Given the description of an element on the screen output the (x, y) to click on. 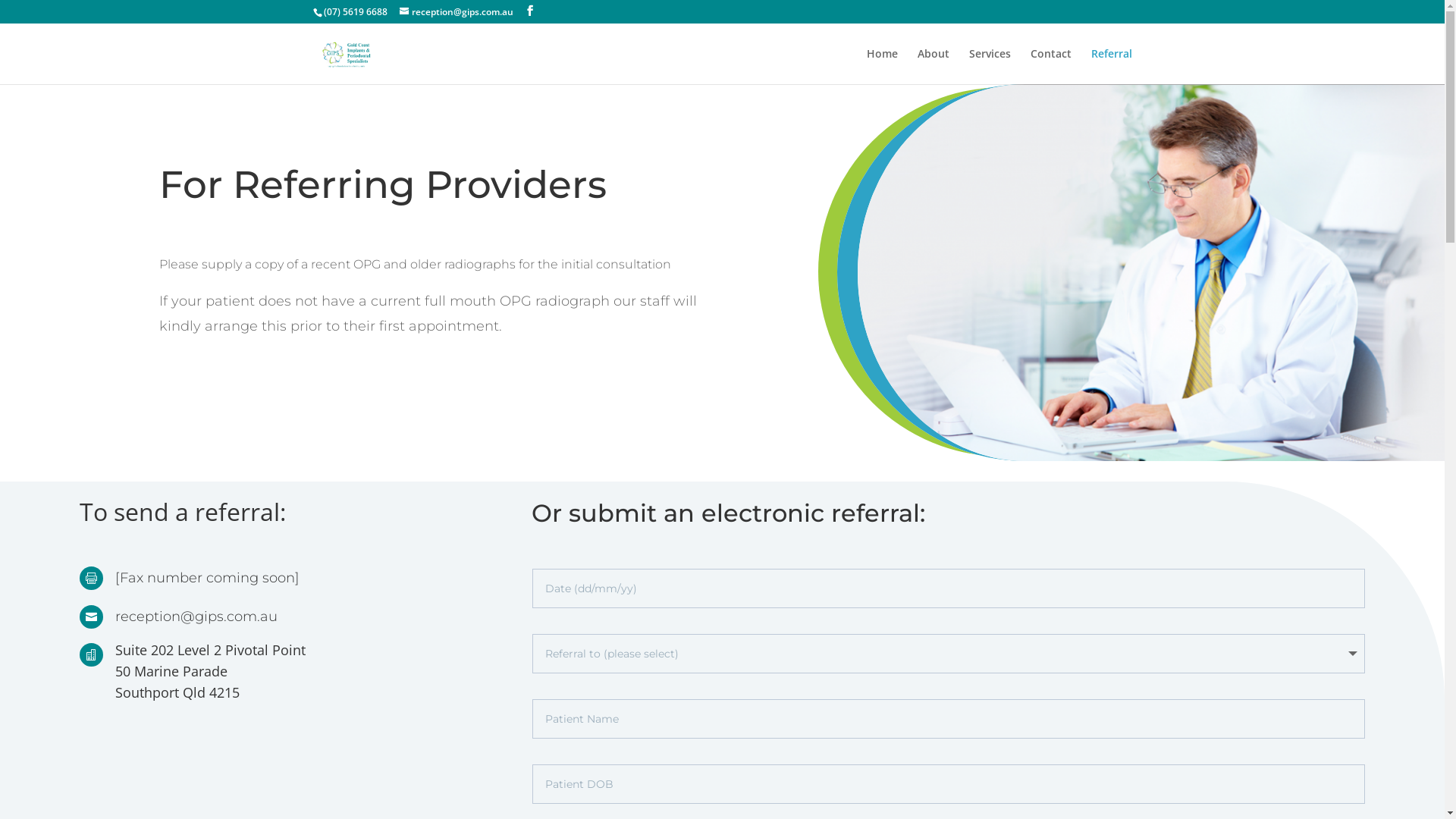
Contact Element type: text (1049, 66)
Home Element type: text (881, 66)
Services Element type: text (989, 66)
Referral Element type: text (1110, 66)
reception@gips.com.au Element type: text (455, 11)
About Element type: text (933, 66)
